Given the description of an element on the screen output the (x, y) to click on. 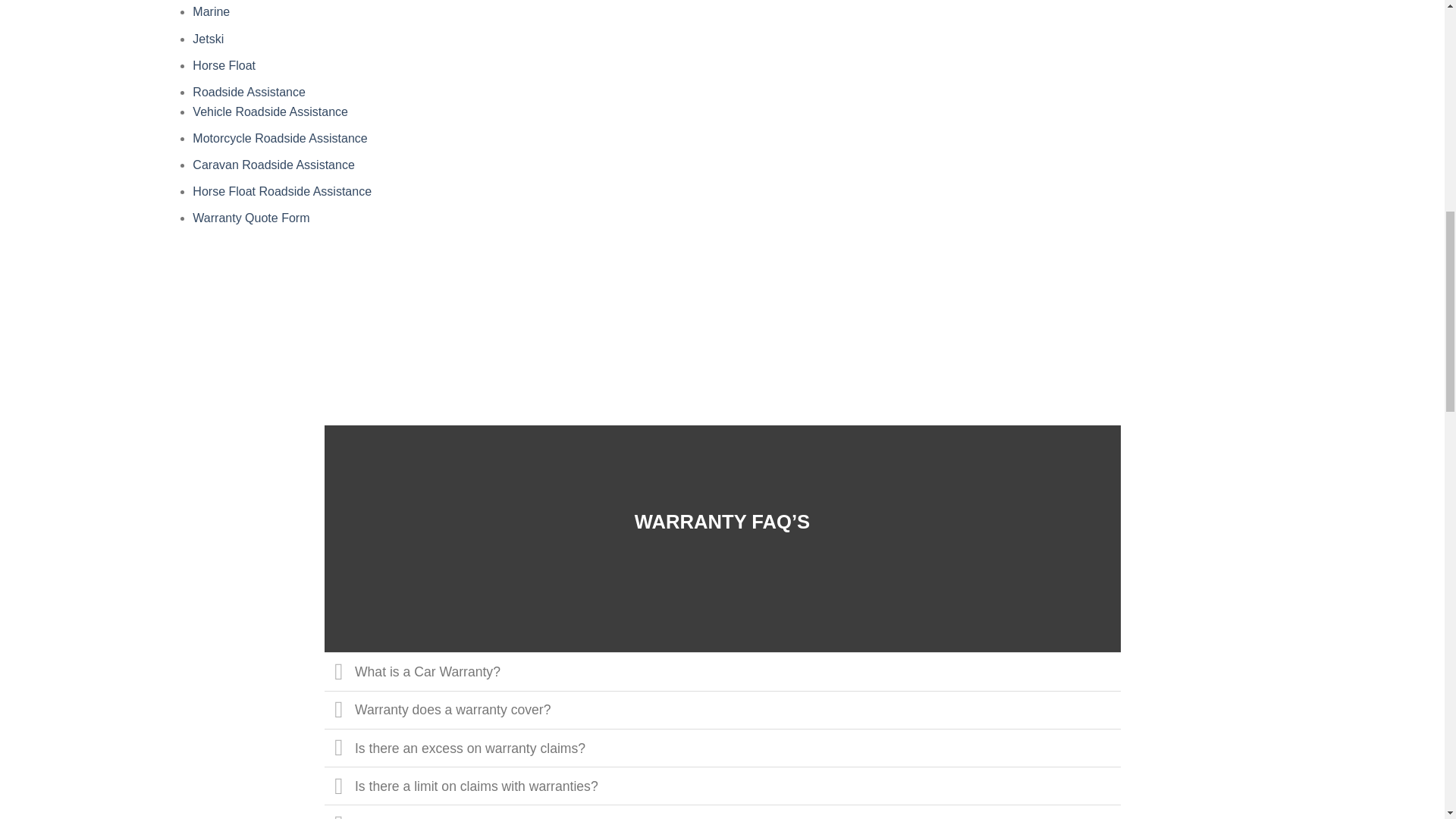
Horse Float (224, 65)
Roadside Assistance (248, 91)
Jetski (208, 38)
Vehicle Roadside Assistance (269, 111)
Motorcycle Roadside Assistance (279, 137)
Marine (211, 11)
